Given the description of an element on the screen output the (x, y) to click on. 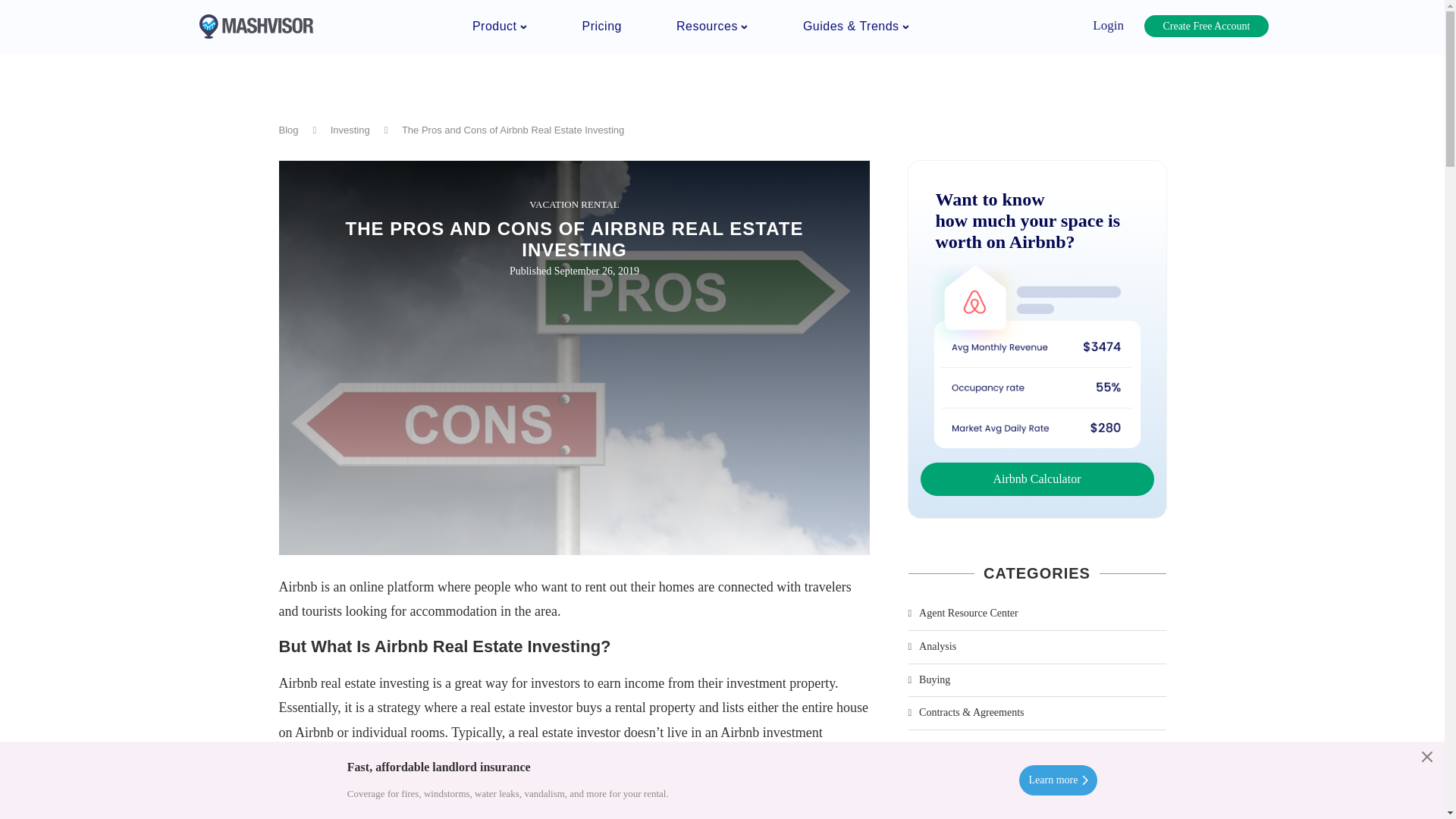
Product (499, 25)
Blog (288, 129)
Pricing (601, 25)
Resources (712, 25)
